Given the description of an element on the screen output the (x, y) to click on. 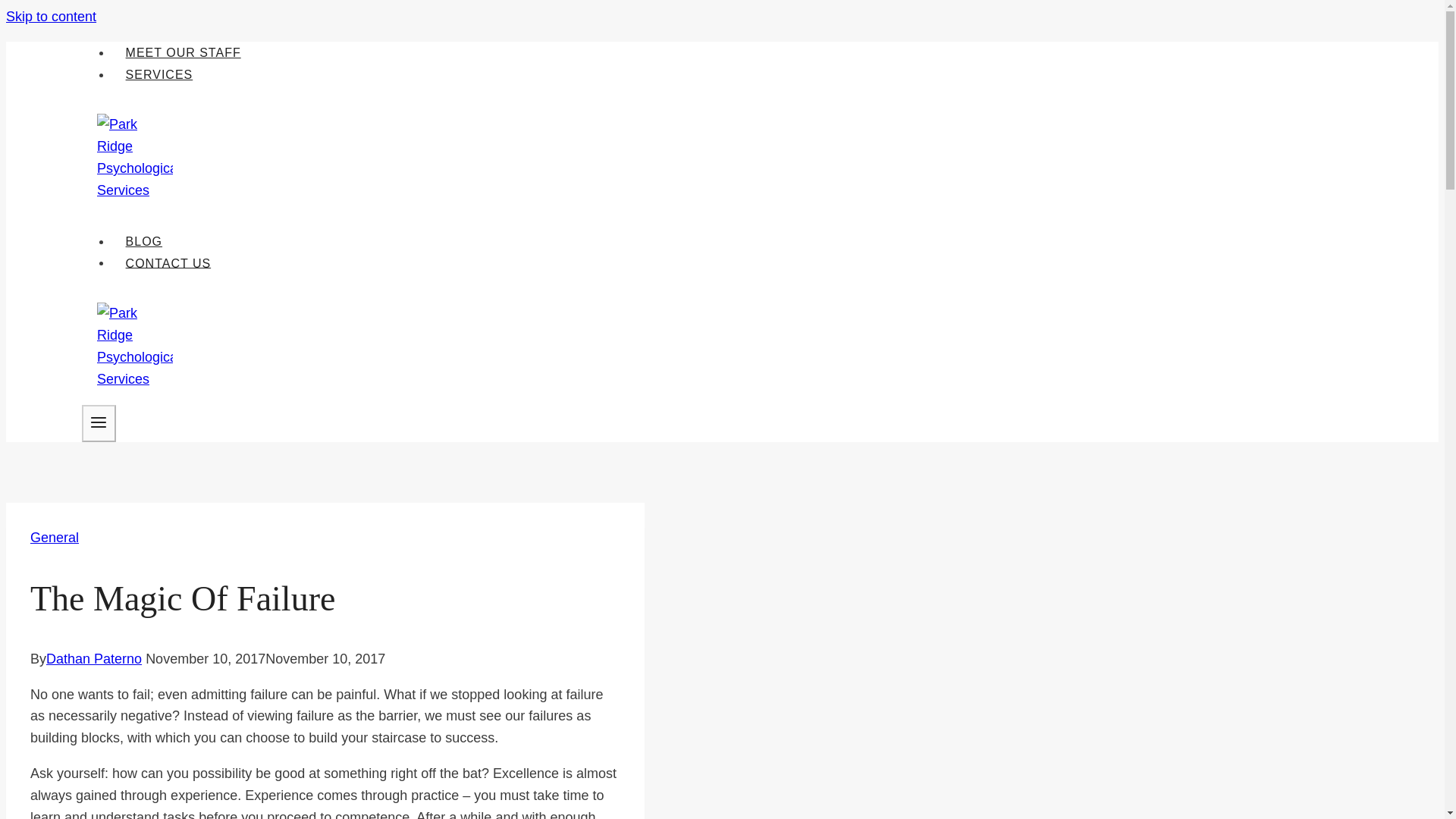
TOGGLE MENU (98, 422)
BLOG (144, 240)
MEET OUR STAFF (182, 52)
General (54, 537)
Dathan Paterno (93, 658)
CONTACT US (168, 262)
Skip to content (50, 16)
Skip to content (50, 16)
TOGGLE MENU (97, 422)
SERVICES (159, 73)
